Given the description of an element on the screen output the (x, y) to click on. 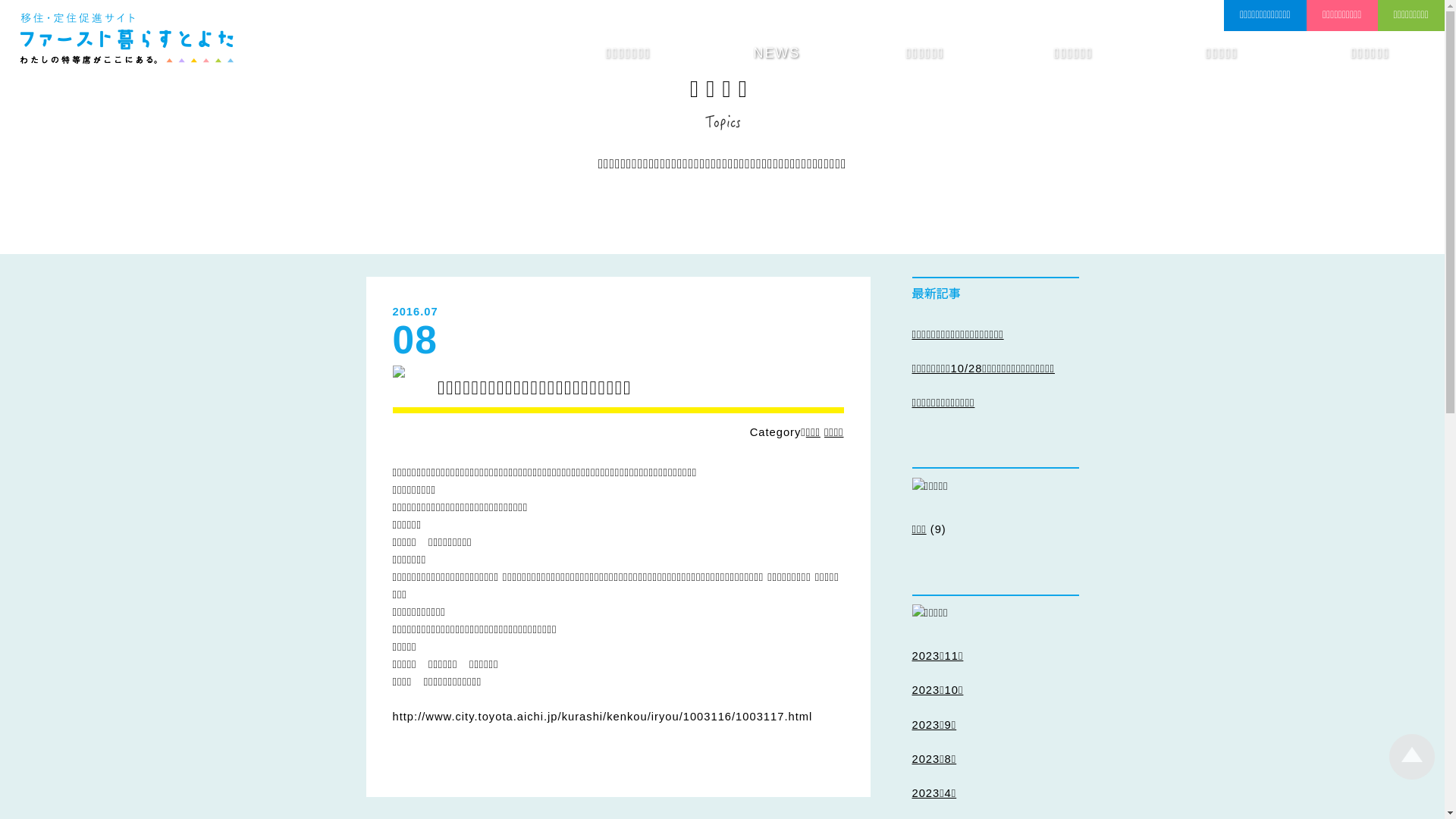
NEWS Element type: text (776, 53)
